Given the description of an element on the screen output the (x, y) to click on. 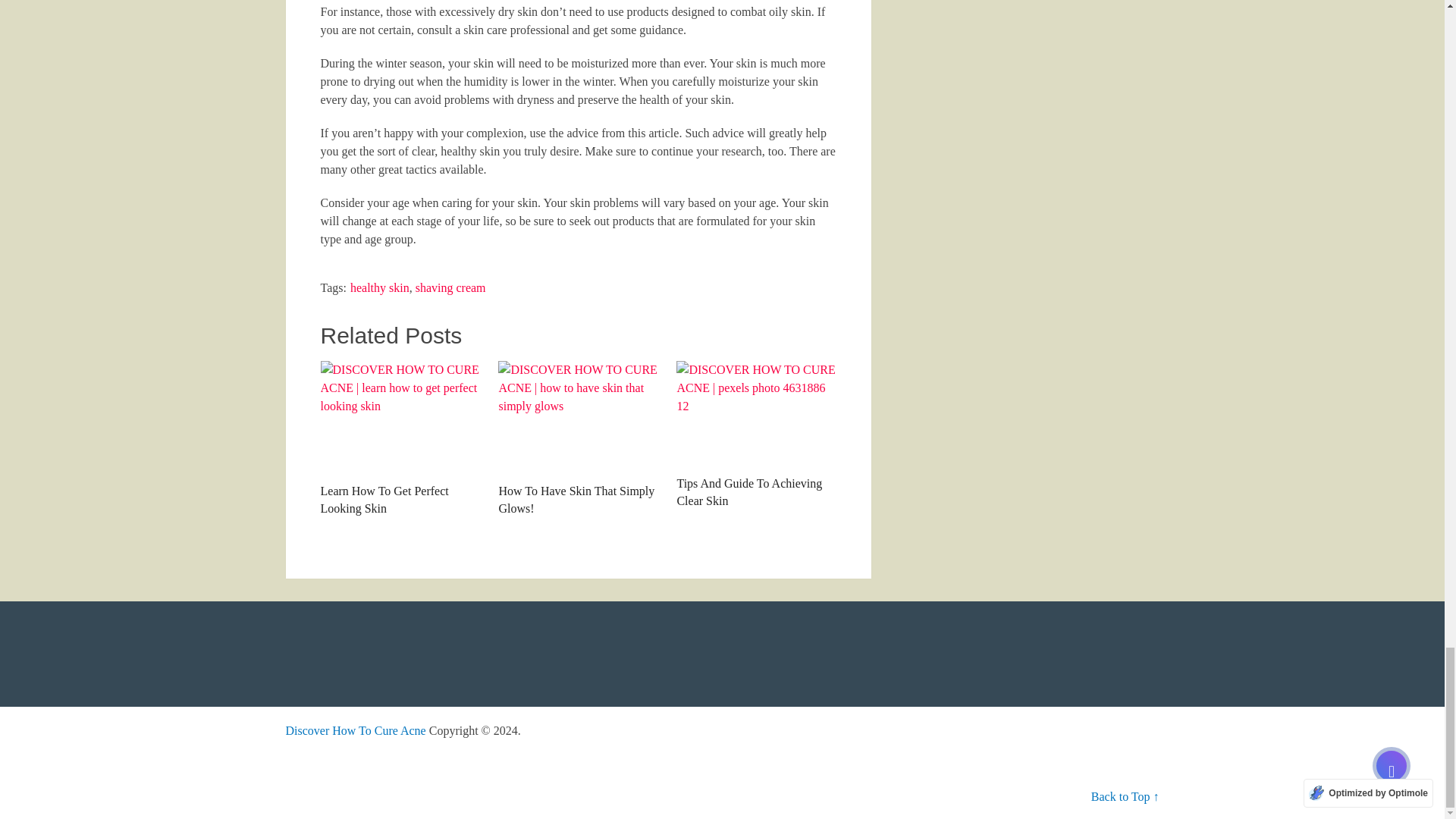
How To Have Skin That Simply Glows! (577, 418)
healthy skin (379, 287)
How To Have Skin That Simply Glows! (577, 438)
Tips And Guide To Achieving Clear Skin (756, 435)
shaving cream (450, 287)
Acne Free Suggestions for Clearer Skin (355, 730)
Discover How To Cure Acne (355, 730)
Learn How To Get Perfect Looking Skin (399, 418)
How To Have Skin That Simply Glows! (577, 438)
Learn How To Get Perfect Looking Skin (399, 438)
